Given the description of an element on the screen output the (x, y) to click on. 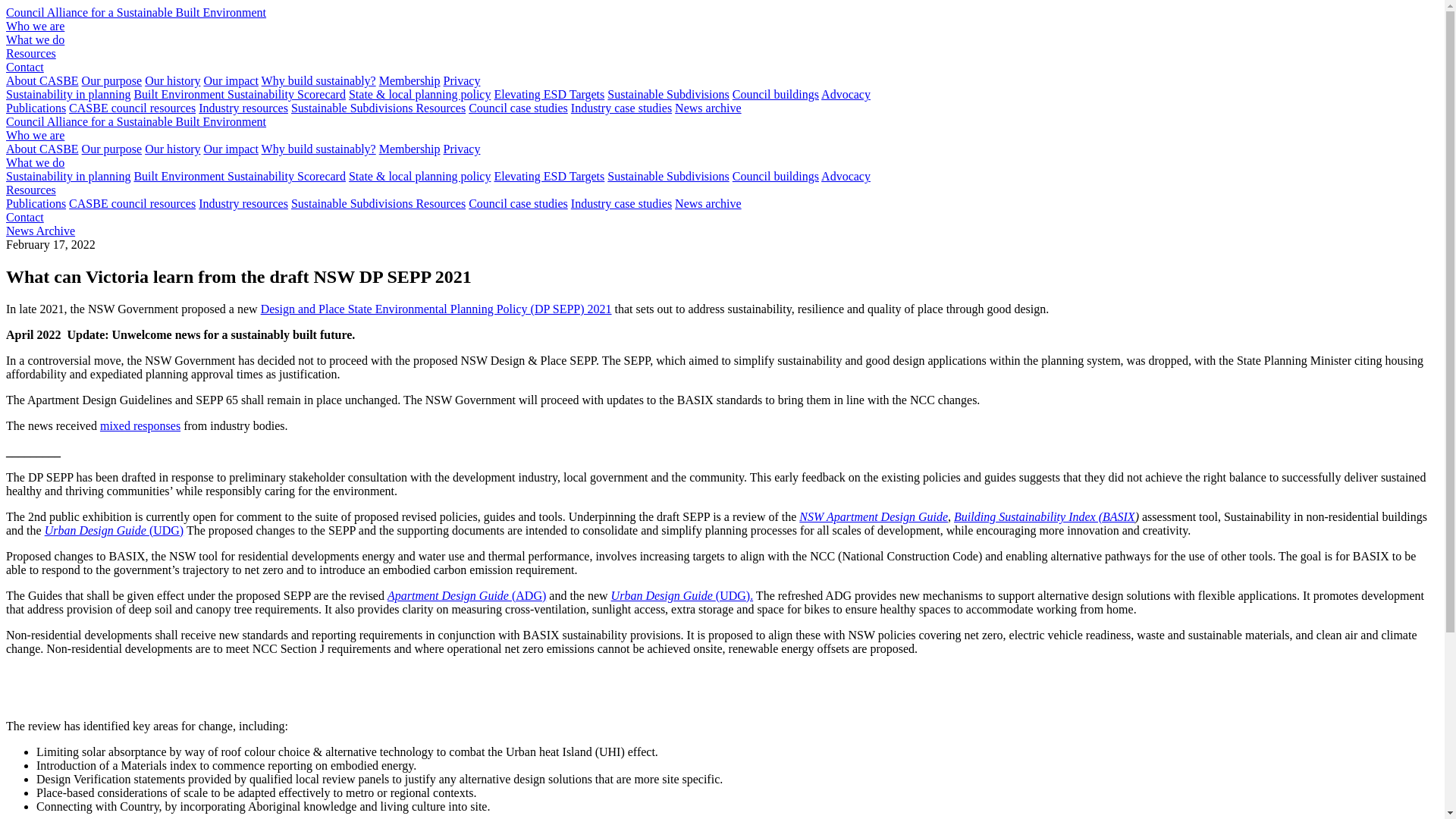
Industry resources Element type: text (243, 107)
Why build sustainably? Element type: text (318, 148)
Privacy Element type: text (461, 80)
Who we are Element type: text (35, 134)
Publications Element type: text (35, 107)
Council Alliance for a Sustainable Built Environment Element type: text (136, 121)
Sustainable Subdivisions Resources Element type: text (378, 107)
Resources Element type: text (31, 189)
Advocacy Element type: text (845, 175)
Our impact Element type: text (230, 148)
Why build sustainably? Element type: text (318, 80)
Contact Element type: text (24, 66)
Privacy Element type: text (461, 148)
Council buildings Element type: text (775, 175)
Membership Element type: text (409, 148)
CASBE council resources Element type: text (132, 107)
Contact Element type: text (24, 216)
Council buildings Element type: text (775, 93)
What we do Element type: text (35, 39)
Publications Element type: text (35, 203)
Building Sustainability Index (BASIX Element type: text (1044, 516)
NSW Apartment Design Guide Element type: text (873, 516)
Sustainable Subdivisions Resources Element type: text (378, 203)
Council case studies Element type: text (517, 107)
Built Environment Sustainability Scorecard Element type: text (239, 93)
CASBE council resources Element type: text (132, 203)
Who we are Element type: text (35, 25)
State & local planning policy Element type: text (419, 93)
Our purpose Element type: text (111, 80)
Our history Element type: text (172, 148)
Our impact Element type: text (230, 80)
News archive Element type: text (707, 203)
Sustainable Subdivisions Element type: text (667, 175)
Our history Element type: text (172, 80)
About CASBE Element type: text (42, 148)
Apartment Design Guide (ADG) Element type: text (466, 595)
News archive Element type: text (707, 107)
Sustainability in planning Element type: text (68, 93)
Council Alliance for a Sustainable Built Environment Element type: text (136, 12)
About CASBE Element type: text (42, 80)
State & local planning policy Element type: text (419, 175)
Built Environment Sustainability Scorecard Element type: text (239, 175)
Our purpose Element type: text (111, 148)
Industry case studies Element type: text (621, 107)
Industry case studies Element type: text (621, 203)
Urban Design Guide (UDG) Element type: text (114, 530)
Membership Element type: text (409, 80)
Industry resources Element type: text (243, 203)
Advocacy Element type: text (845, 93)
News Archive Element type: text (40, 230)
What we do Element type: text (35, 162)
Sustainable Subdivisions Element type: text (667, 93)
Council case studies Element type: text (517, 203)
Elevating ESD Targets Element type: text (548, 175)
Urban Design Guide (UDG). Element type: text (682, 595)
mixed responses Element type: text (140, 425)
Resources Element type: text (31, 53)
Elevating ESD Targets Element type: text (548, 93)
Sustainability in planning Element type: text (68, 175)
